Given the description of an element on the screen output the (x, y) to click on. 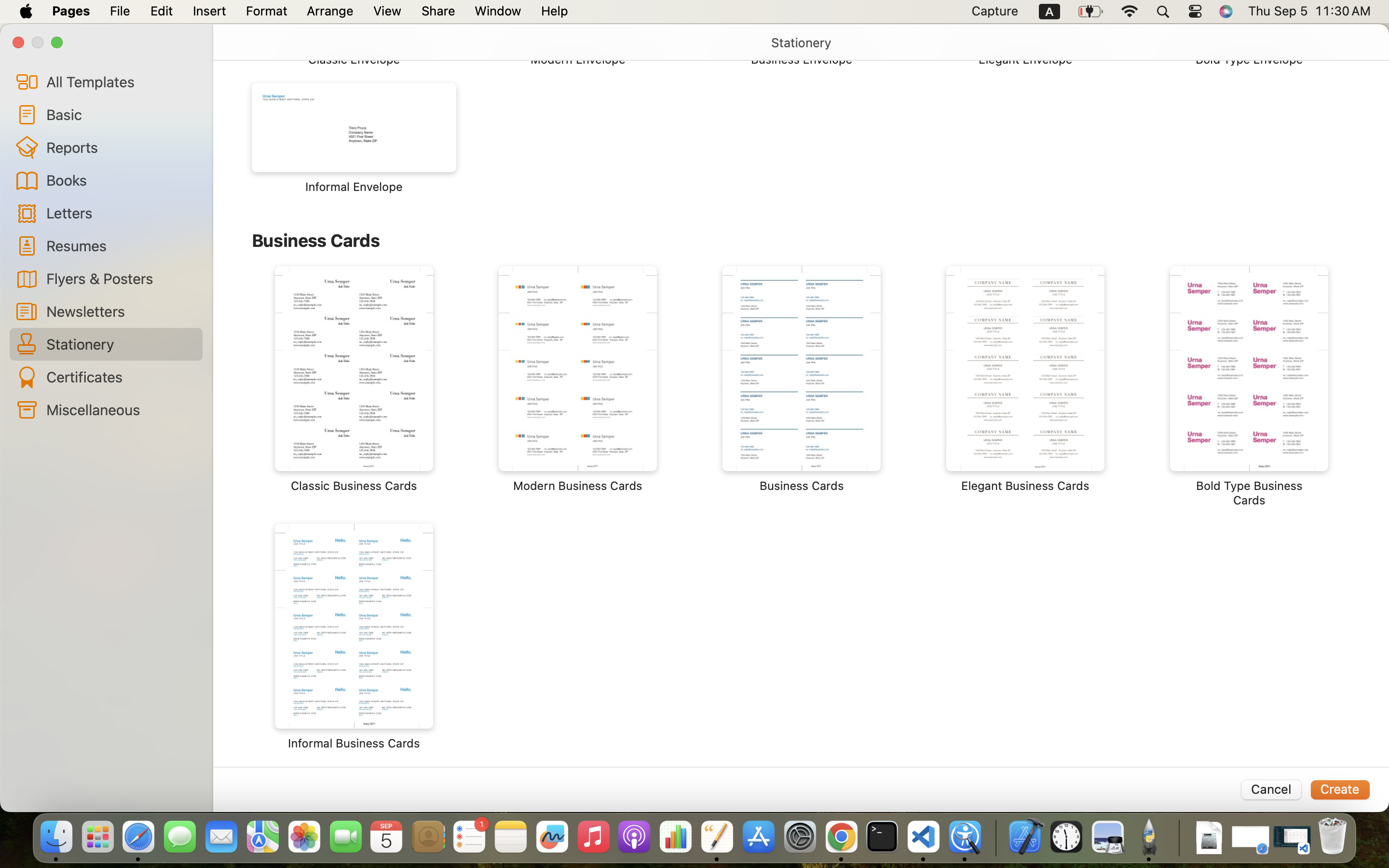
Letters Element type: AXStaticText (120, 212)
Stationery Element type: AXStaticText (120, 343)
Books Element type: AXStaticText (120, 179)
‎⁨Bold Type Business Cards⁩ Element type: AXButton (1249, 386)
‎⁨Classic Business Cards⁩ Element type: AXButton (353, 379)
